Given the description of an element on the screen output the (x, y) to click on. 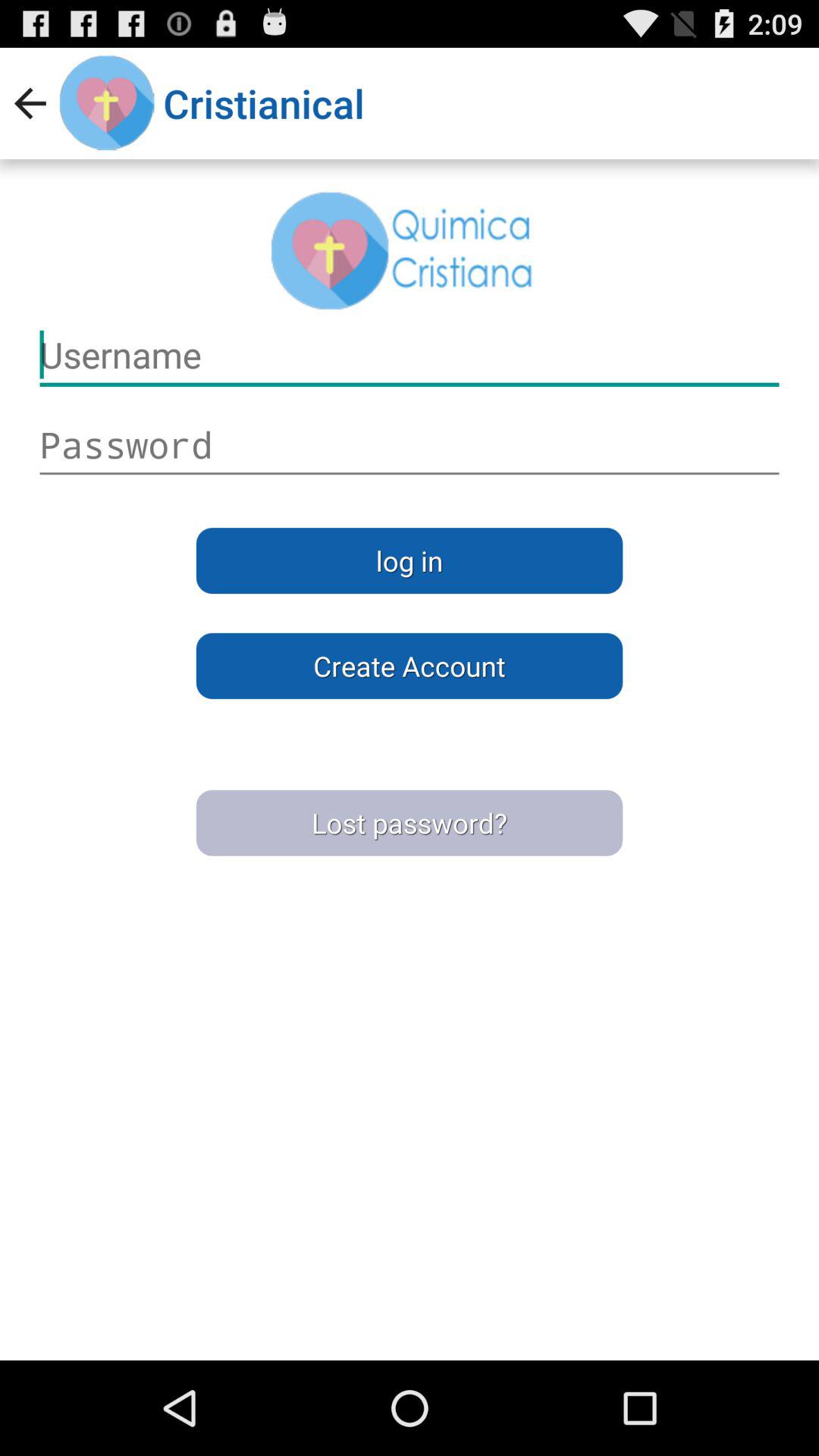
entre username (409, 445)
